Given the description of an element on the screen output the (x, y) to click on. 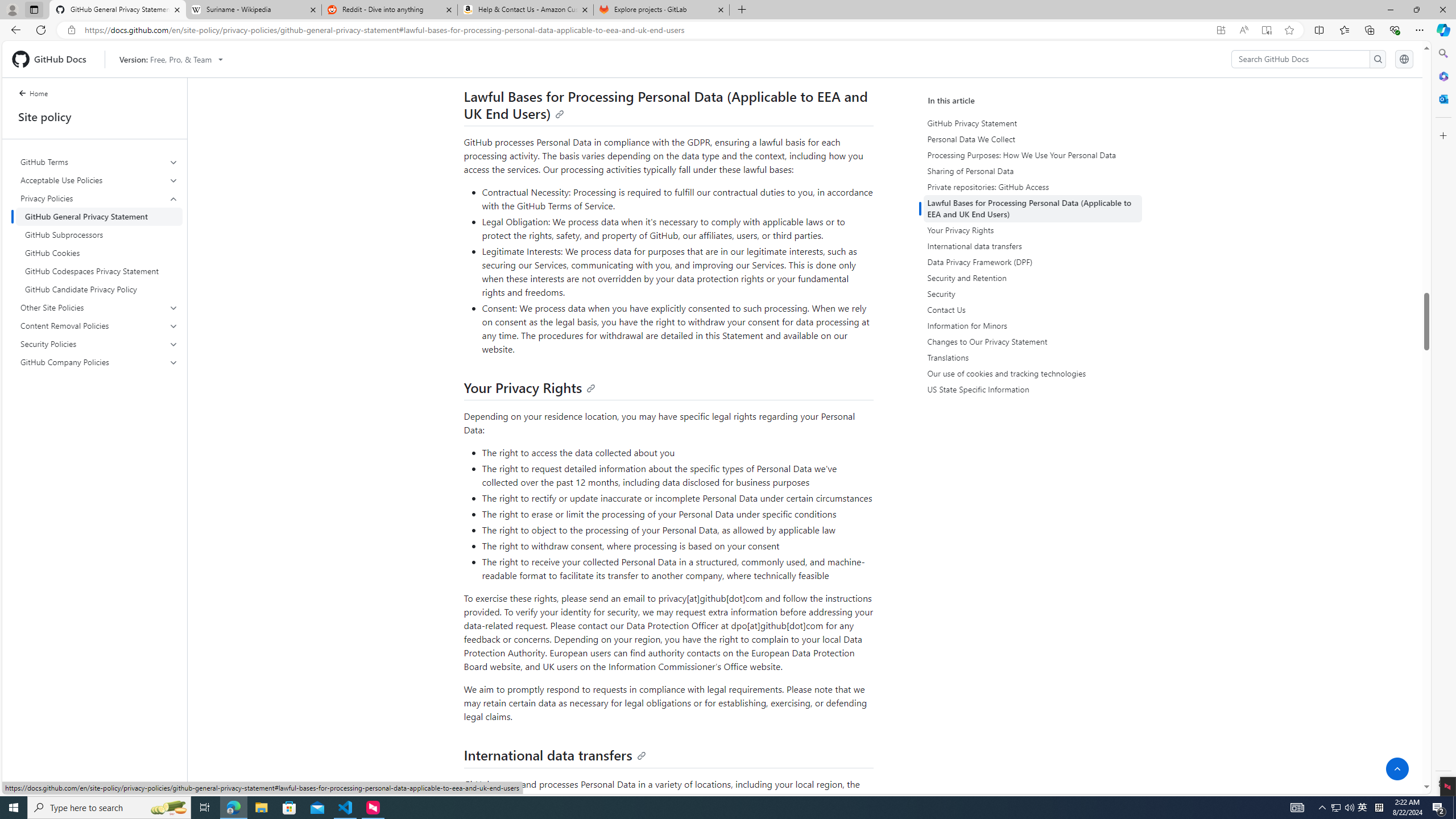
Data Privacy Framework (DPF) (1032, 261)
Acceptable Use Policies (99, 180)
Translations (1032, 357)
Sharing of Personal Data (1032, 170)
GitHub Cookies (99, 253)
International data transfers (1032, 245)
GitHub General Privacy Statement (99, 216)
GitHub Terms (99, 162)
